Given the description of an element on the screen output the (x, y) to click on. 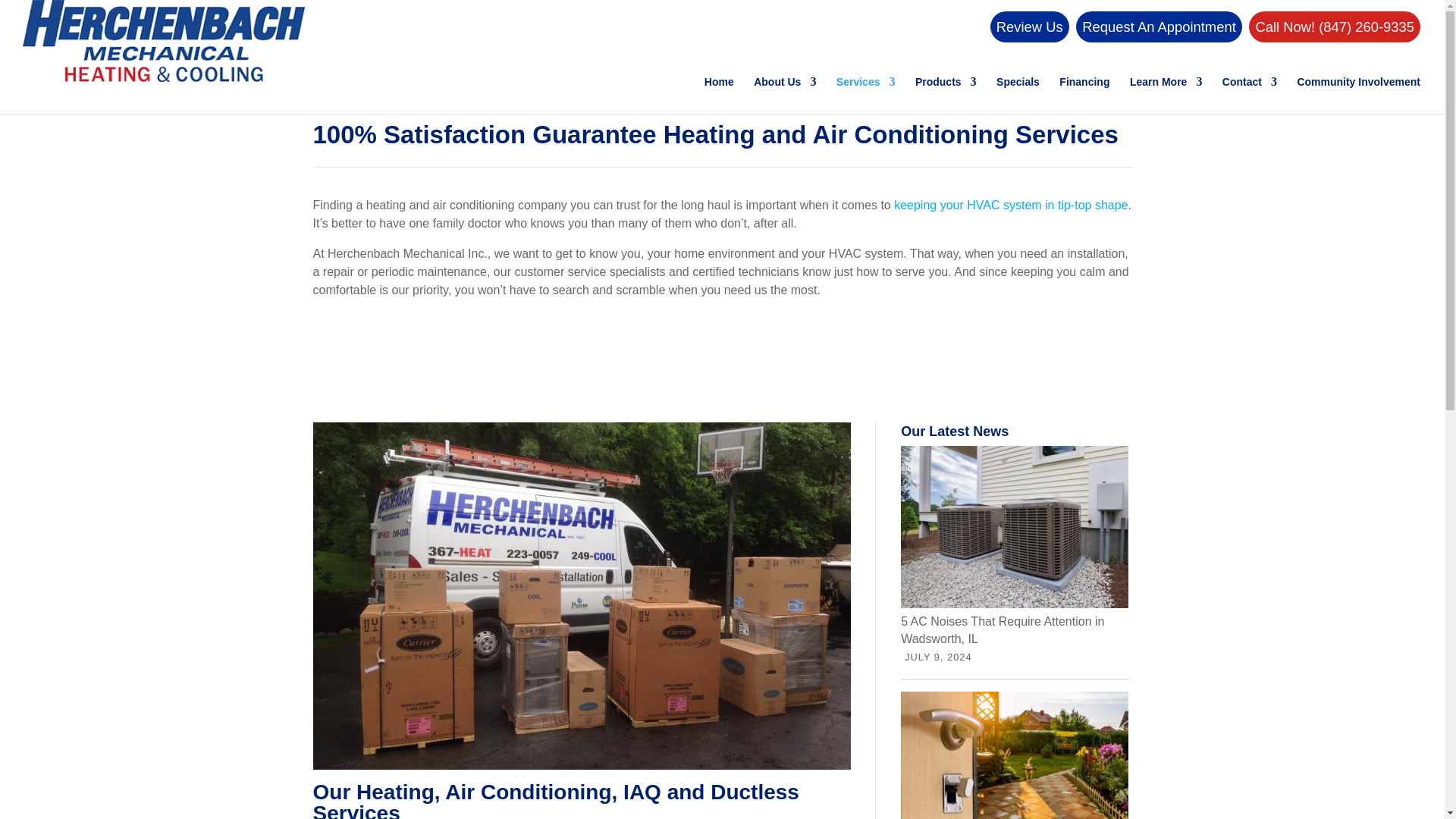
Schedule an Appointment (1158, 26)
5 AC Noises That Require Attention in Wadsworth, IL (1015, 630)
Read Our Customer Reviews (1029, 26)
Financing (1084, 94)
Specials (1017, 94)
Request An Appointment (1158, 26)
keeping your HVAC system in tip-top shape (1009, 205)
About Us (784, 94)
Learn More (1165, 94)
Community Involvement (1359, 94)
Contact (1249, 94)
Review Us (1029, 26)
Products (945, 94)
Services (865, 94)
Call Us Now! (1335, 26)
